Given the description of an element on the screen output the (x, y) to click on. 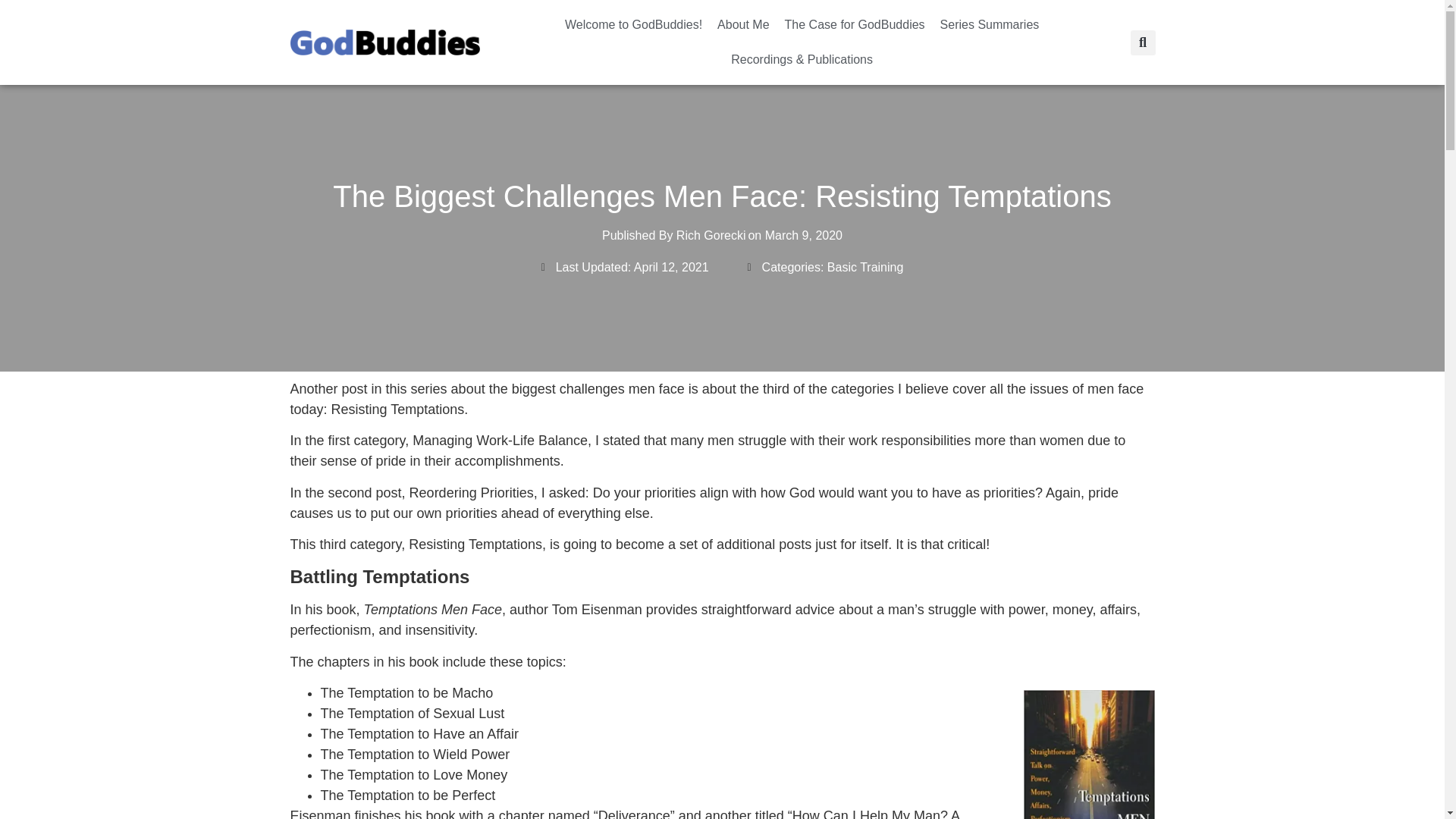
The Case for GodBuddies (855, 24)
Published By Rich Gorecki (673, 235)
Basic Training (865, 267)
About Me (743, 24)
Welcome to GodBuddies! (633, 24)
Series Summaries (989, 24)
